Given the description of an element on the screen output the (x, y) to click on. 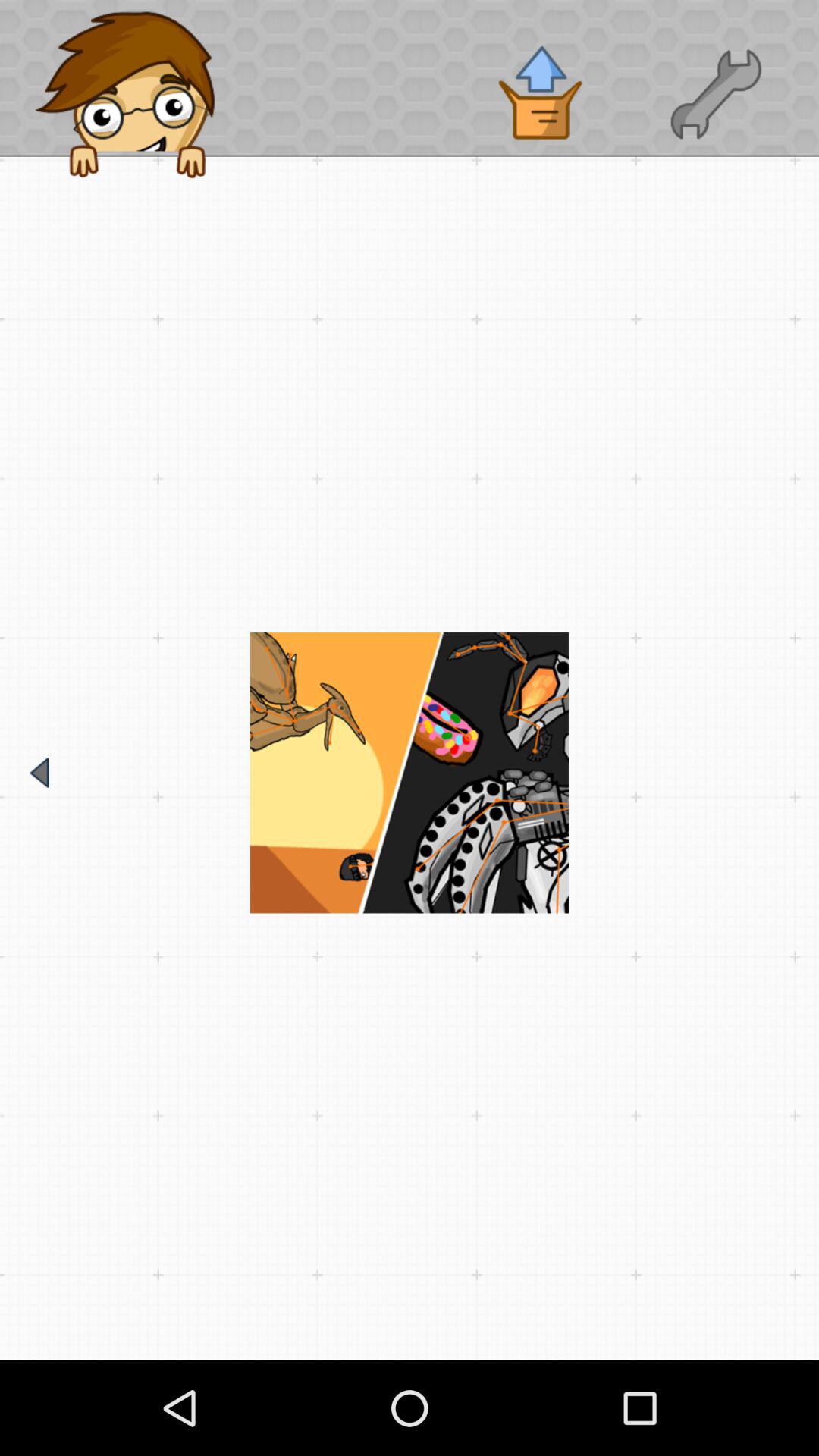
go back (39, 772)
